Given the description of an element on the screen output the (x, y) to click on. 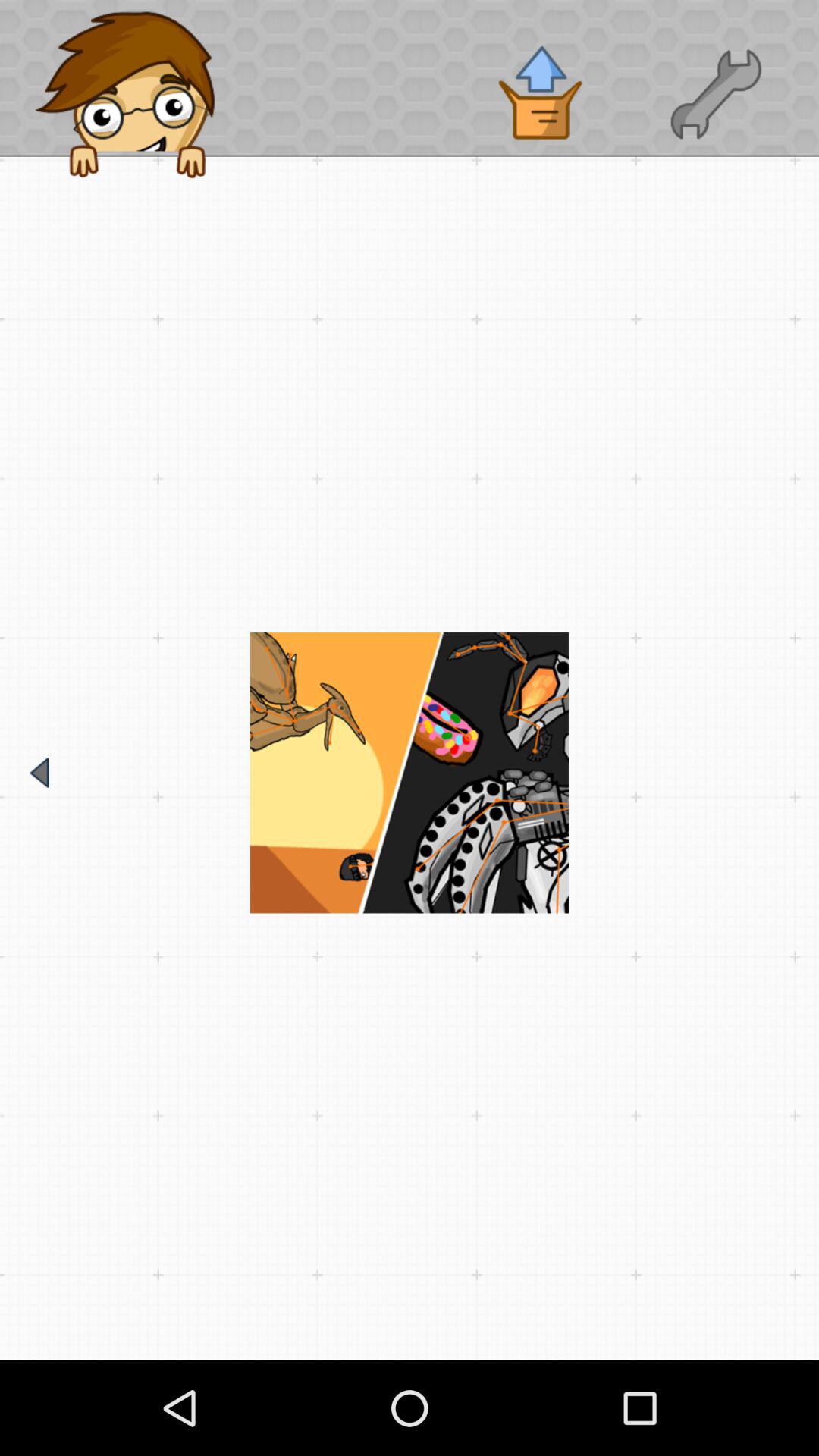
go back (39, 772)
